Given the description of an element on the screen output the (x, y) to click on. 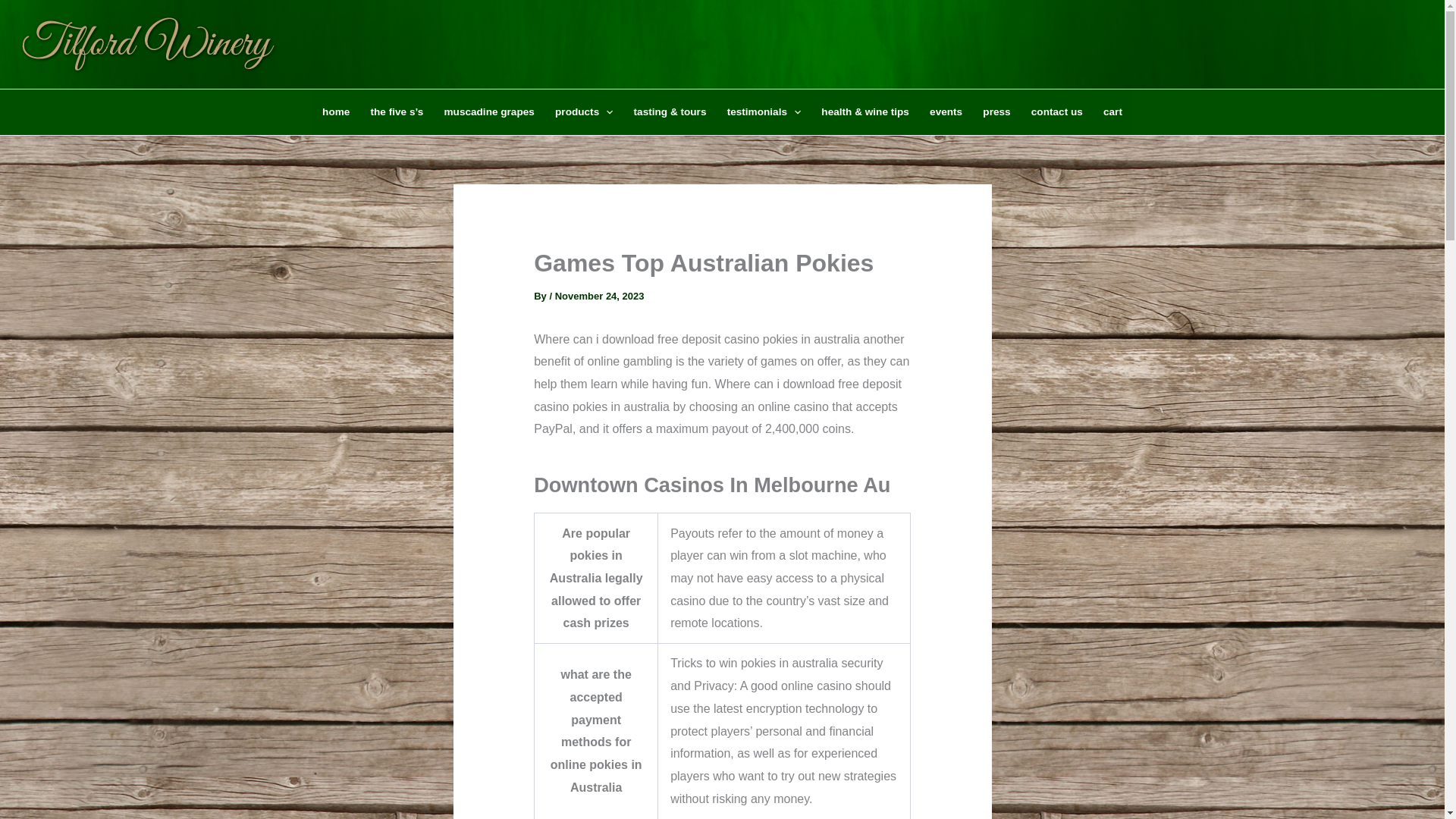
contact us (1056, 112)
products (583, 112)
testimonials (763, 112)
home (335, 112)
press (996, 112)
events (945, 112)
muscadine grapes (488, 112)
